Given the description of an element on the screen output the (x, y) to click on. 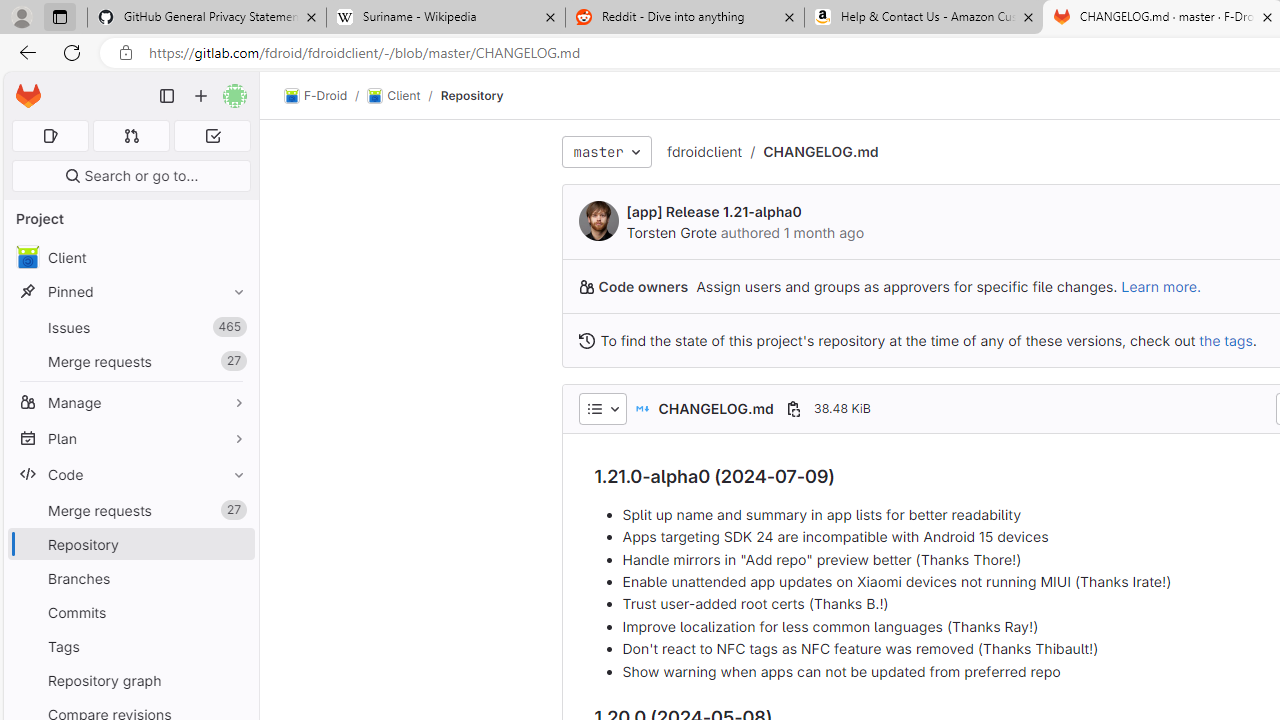
Help & Contact Us - Amazon Customer Service (924, 17)
avatar (27, 257)
Pinned (130, 291)
Manage (130, 402)
Branches (130, 578)
Merge requests 0 (131, 136)
Repository graph (130, 679)
Pin Repository graph (234, 680)
Create new... (201, 96)
Pin Tags (234, 646)
fdroidclient (703, 151)
master (605, 151)
Issues 465 (130, 327)
Primary navigation sidebar (167, 96)
